Given the description of an element on the screen output the (x, y) to click on. 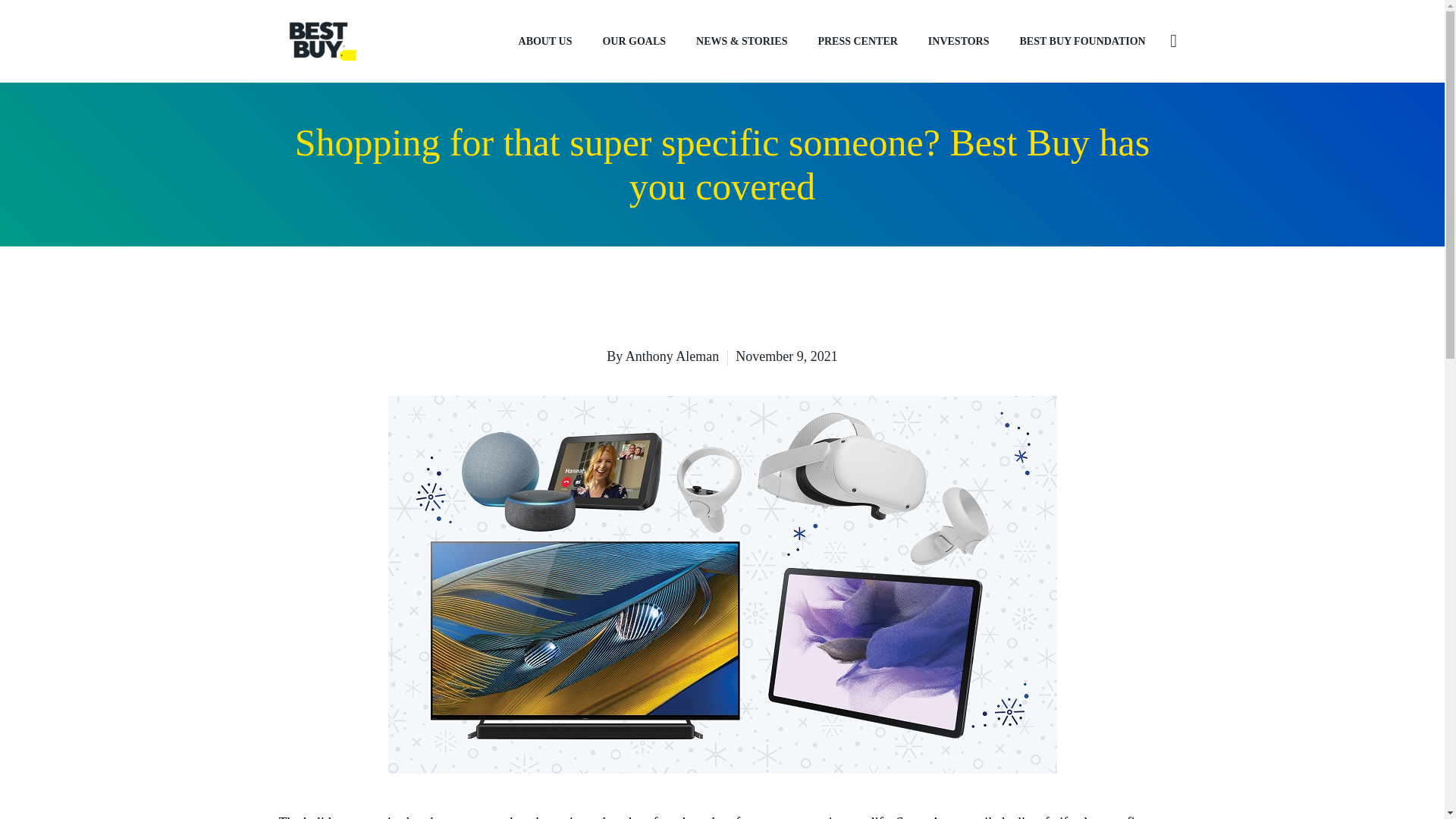
INVESTORS (958, 40)
PRESS CENTER (857, 40)
OUR GOALS (633, 40)
ABOUT US (545, 40)
BEST BUY FOUNDATION (1082, 40)
